Given the description of an element on the screen output the (x, y) to click on. 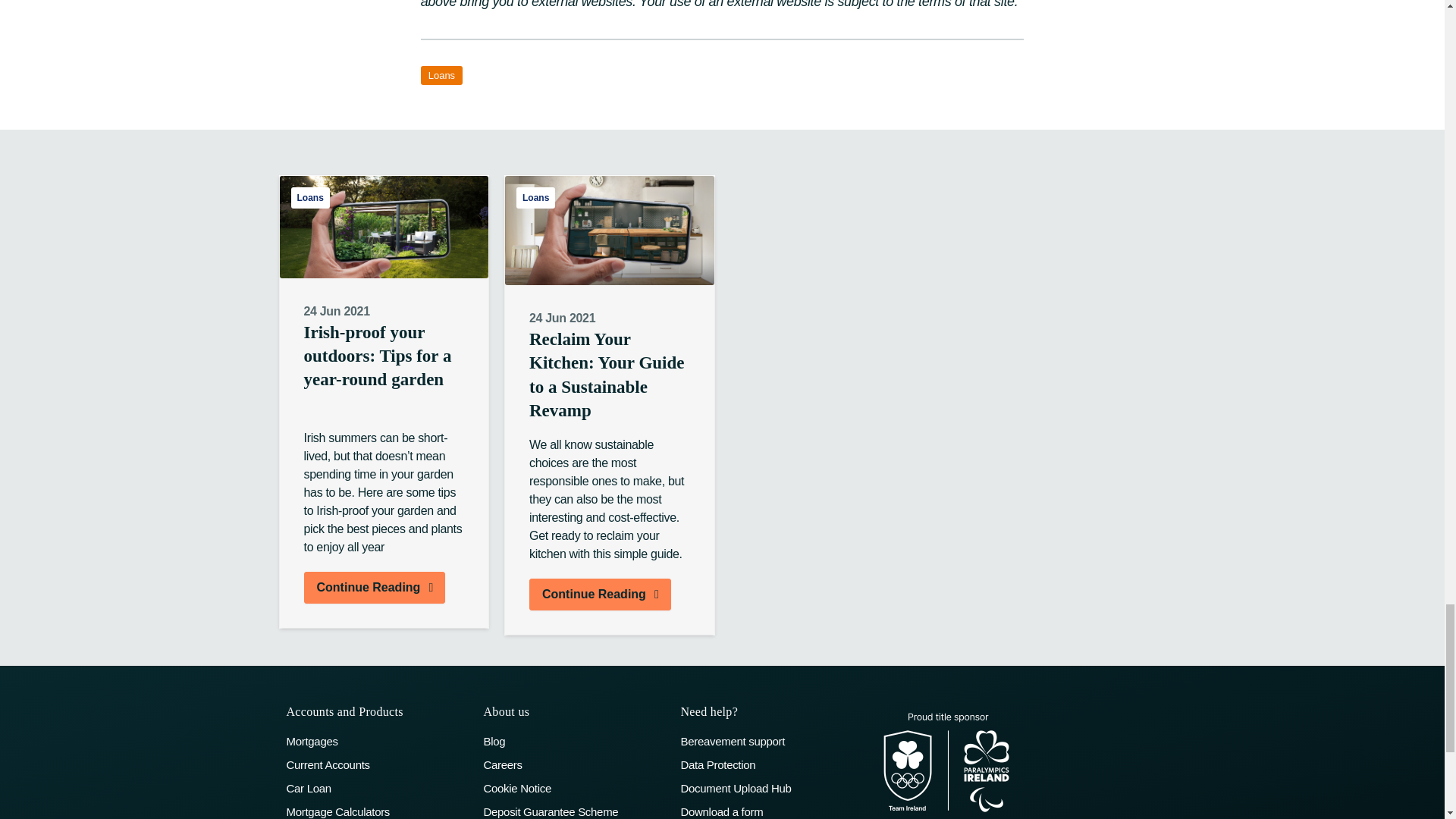
Irish-proof your outdoors: Tips for a year-round garden (383, 372)
Mortgage Calculators (377, 811)
Loans (441, 75)
Cookie Notice (574, 788)
Continue Reading (373, 587)
Cookie Notice (574, 788)
Document Upload Hub (770, 788)
Blog (574, 741)
Current Accounts (377, 764)
Mortgages (377, 741)
Careers (574, 764)
Car Loan (377, 788)
Reclaim Your Kitchen: Your Guide to a Sustainable Revamp (609, 378)
Loans (535, 197)
Deposit Guarantee Scheme (574, 811)
